Given the description of an element on the screen output the (x, y) to click on. 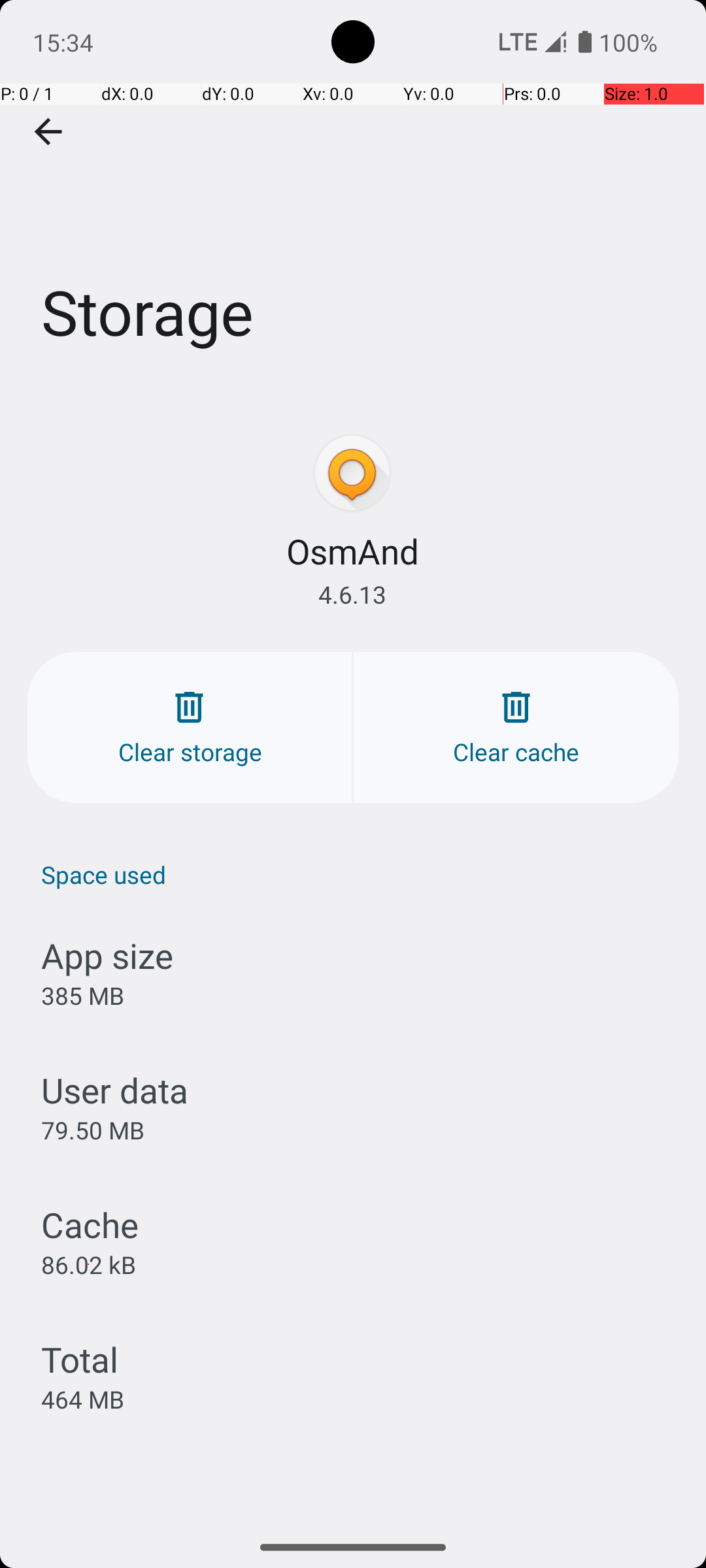
4.6.13 Element type: android.widget.TextView (352, 593)
Clear storage Element type: android.widget.Button (189, 727)
Clear cache Element type: android.widget.Button (515, 727)
Space used Element type: android.widget.TextView (359, 874)
App size Element type: android.widget.TextView (107, 955)
385 MB Element type: android.widget.TextView (82, 995)
User data Element type: android.widget.TextView (114, 1089)
79.50 MB Element type: android.widget.TextView (92, 1129)
Cache Element type: android.widget.TextView (89, 1224)
86.02 kB Element type: android.widget.TextView (88, 1264)
464 MB Element type: android.widget.TextView (82, 1398)
